Given the description of an element on the screen output the (x, y) to click on. 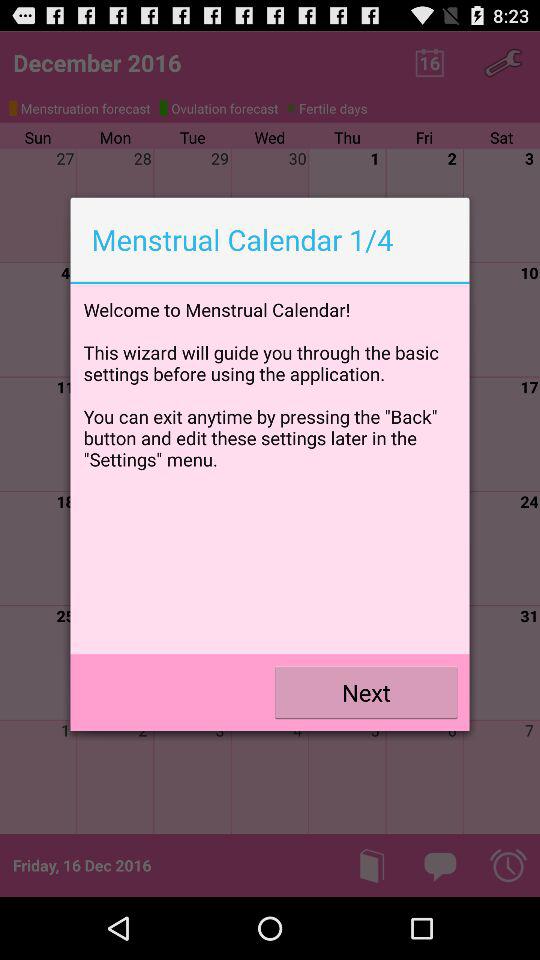
open next (366, 692)
